Given the description of an element on the screen output the (x, y) to click on. 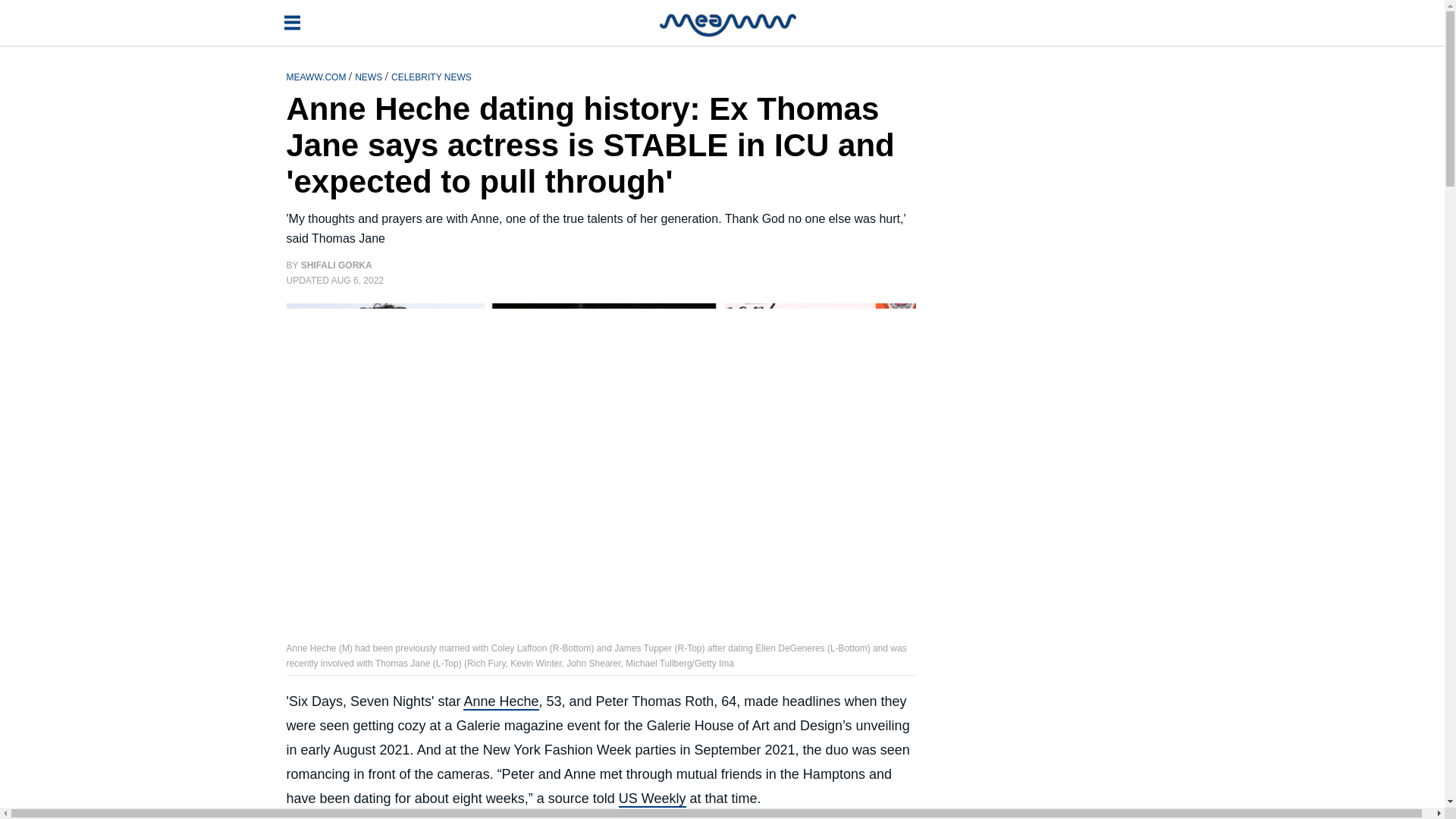
CELEBRITY NEWS (431, 75)
SHIFALI GORKA (336, 265)
US Weekly (651, 799)
NEWS (369, 75)
Anne Heche (500, 701)
MEAWW.COM (317, 75)
